Given the description of an element on the screen output the (x, y) to click on. 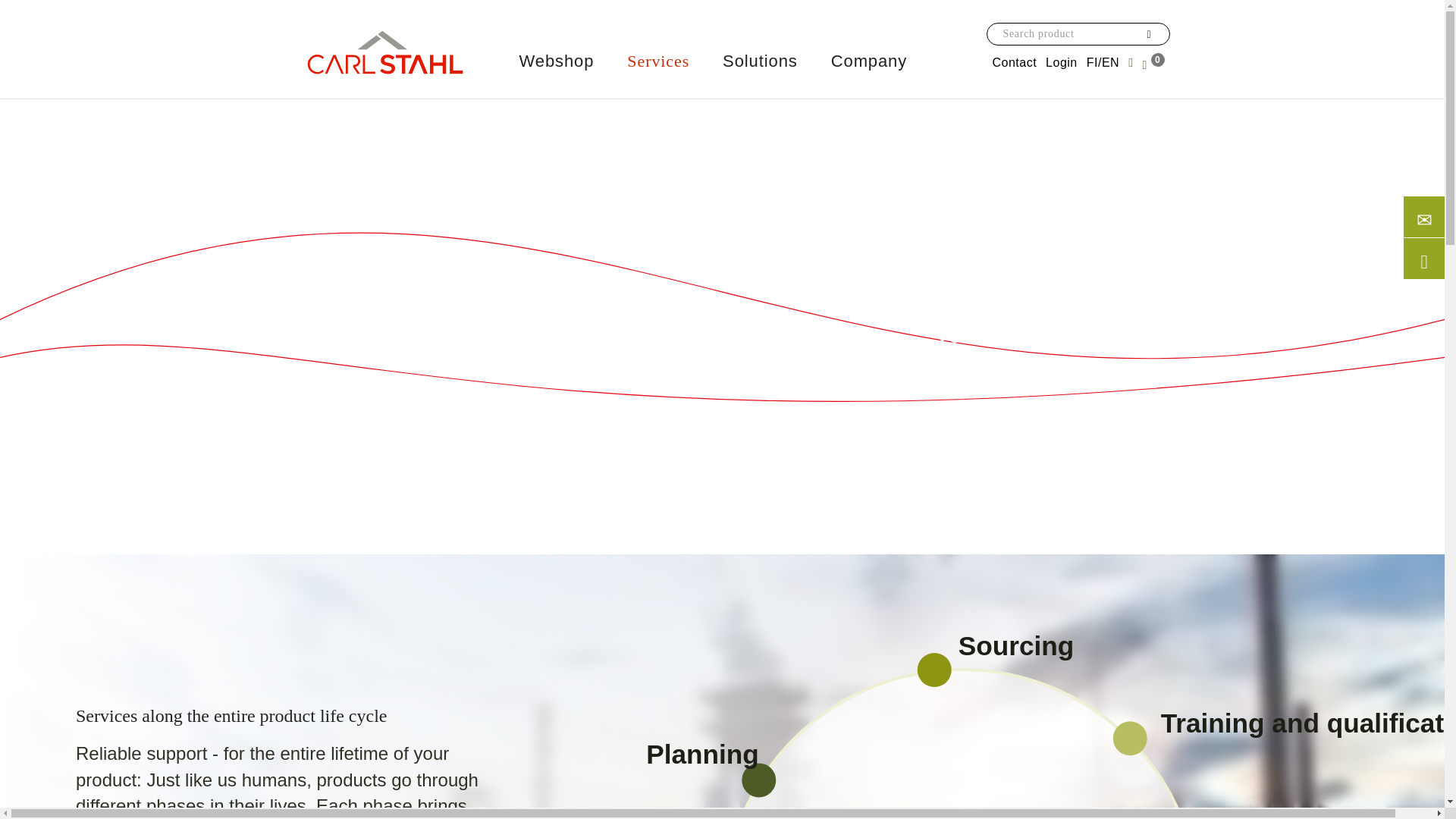
Webshop (555, 61)
